Given the description of an element on the screen output the (x, y) to click on. 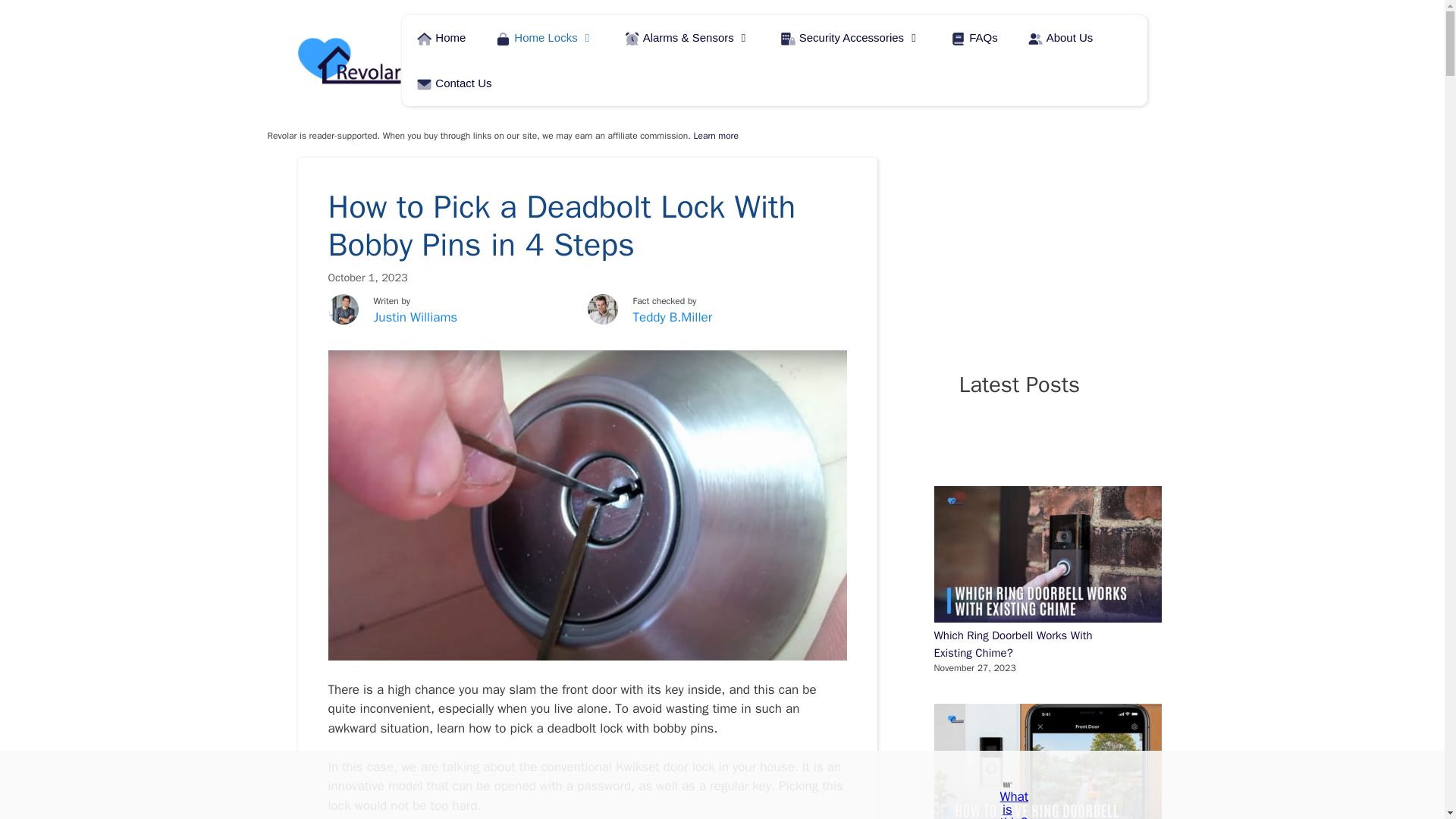
Home Locks (544, 37)
Home (440, 37)
